Given the description of an element on the screen output the (x, y) to click on. 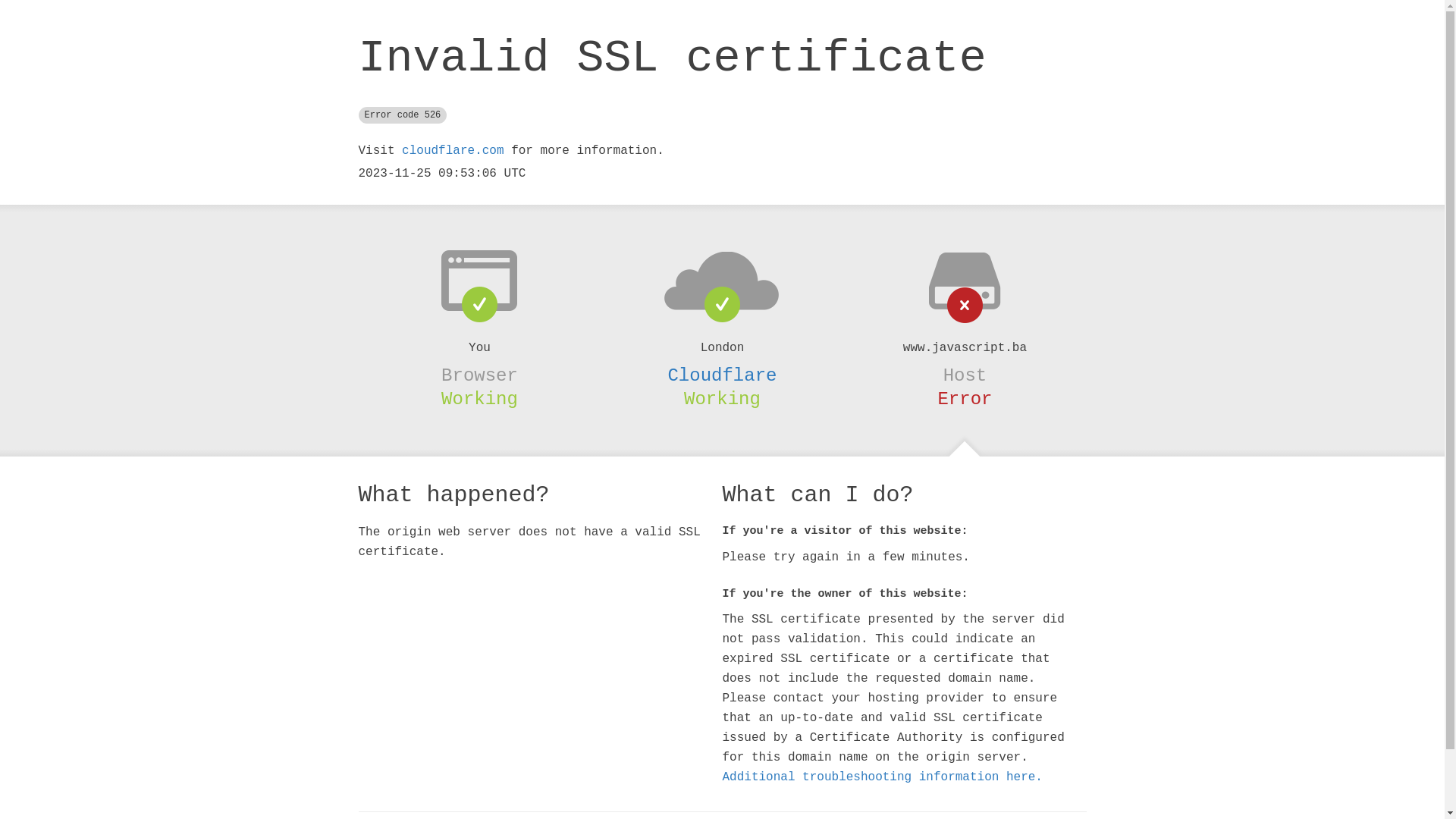
cloudflare.com Element type: text (452, 150)
Cloudflare Element type: text (721, 375)
Additional troubleshooting information here. Element type: text (881, 777)
